Given the description of an element on the screen output the (x, y) to click on. 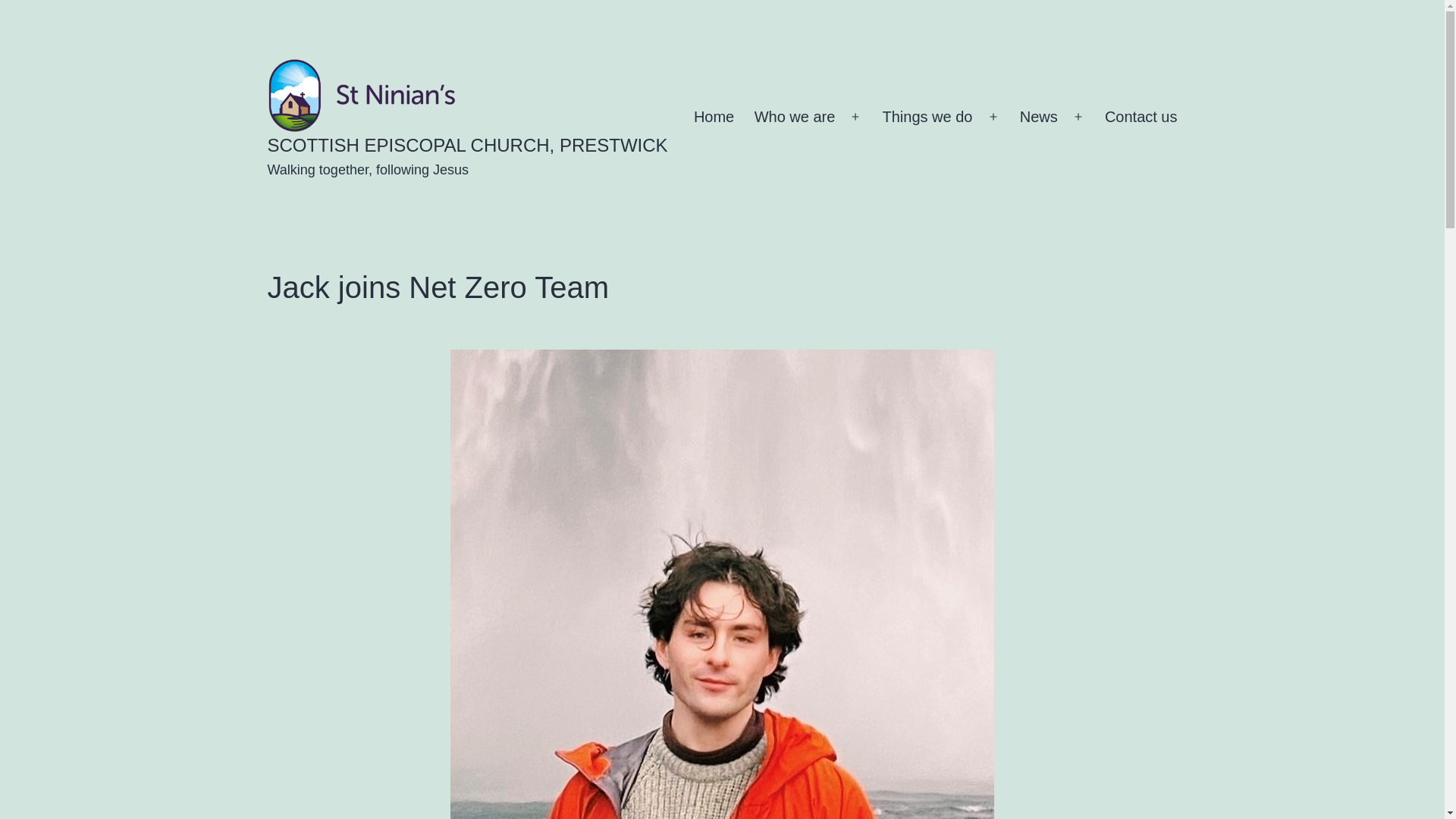
Who we are (794, 116)
Open menu (993, 116)
Open menu (1077, 116)
Home (714, 116)
Open menu (855, 116)
Contact us (1141, 116)
Things we do (926, 116)
News (1038, 116)
